Given the description of an element on the screen output the (x, y) to click on. 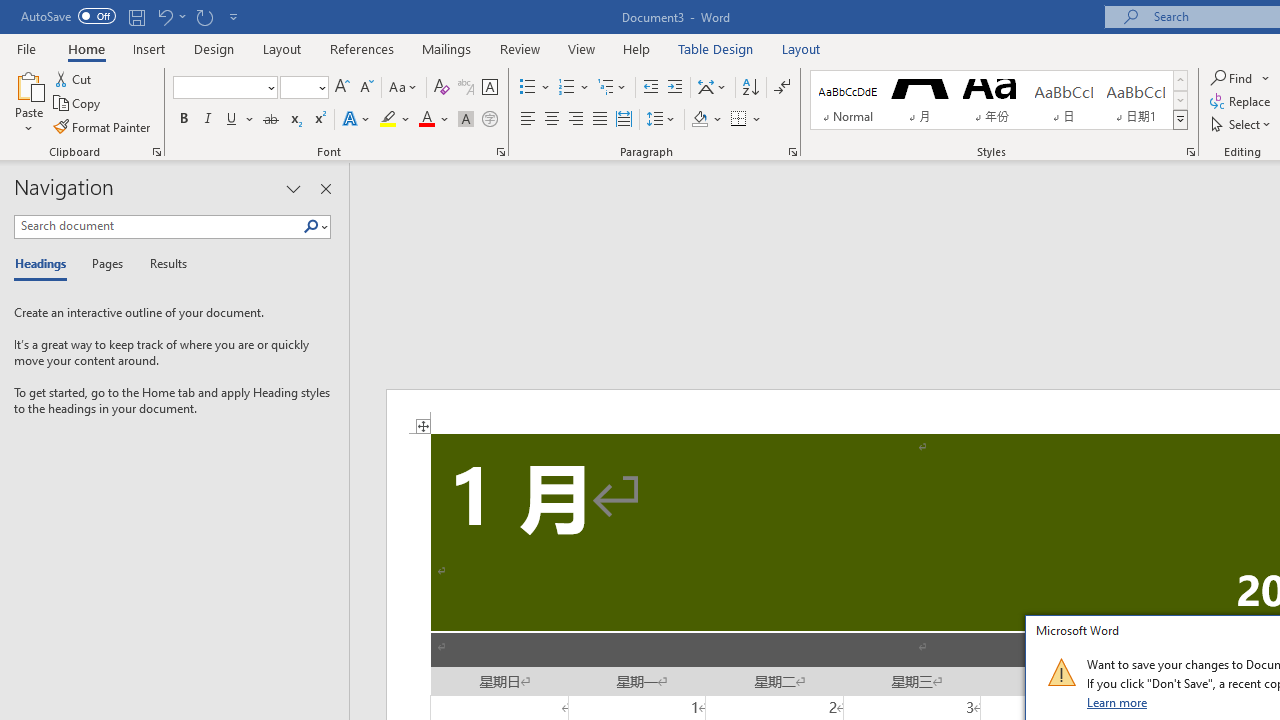
Undo Apply Quick Style (170, 15)
